Given the description of an element on the screen output the (x, y) to click on. 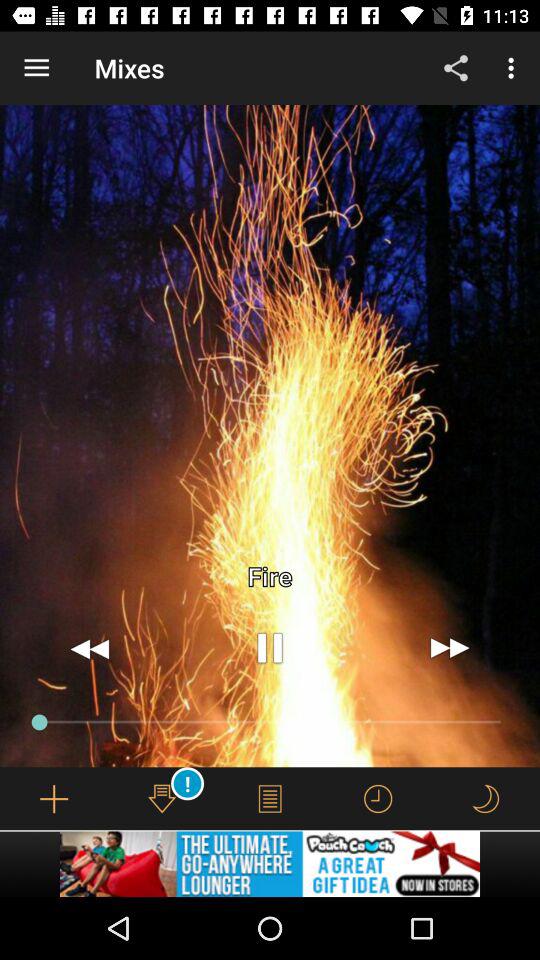
add a track (54, 798)
